Given the description of an element on the screen output the (x, y) to click on. 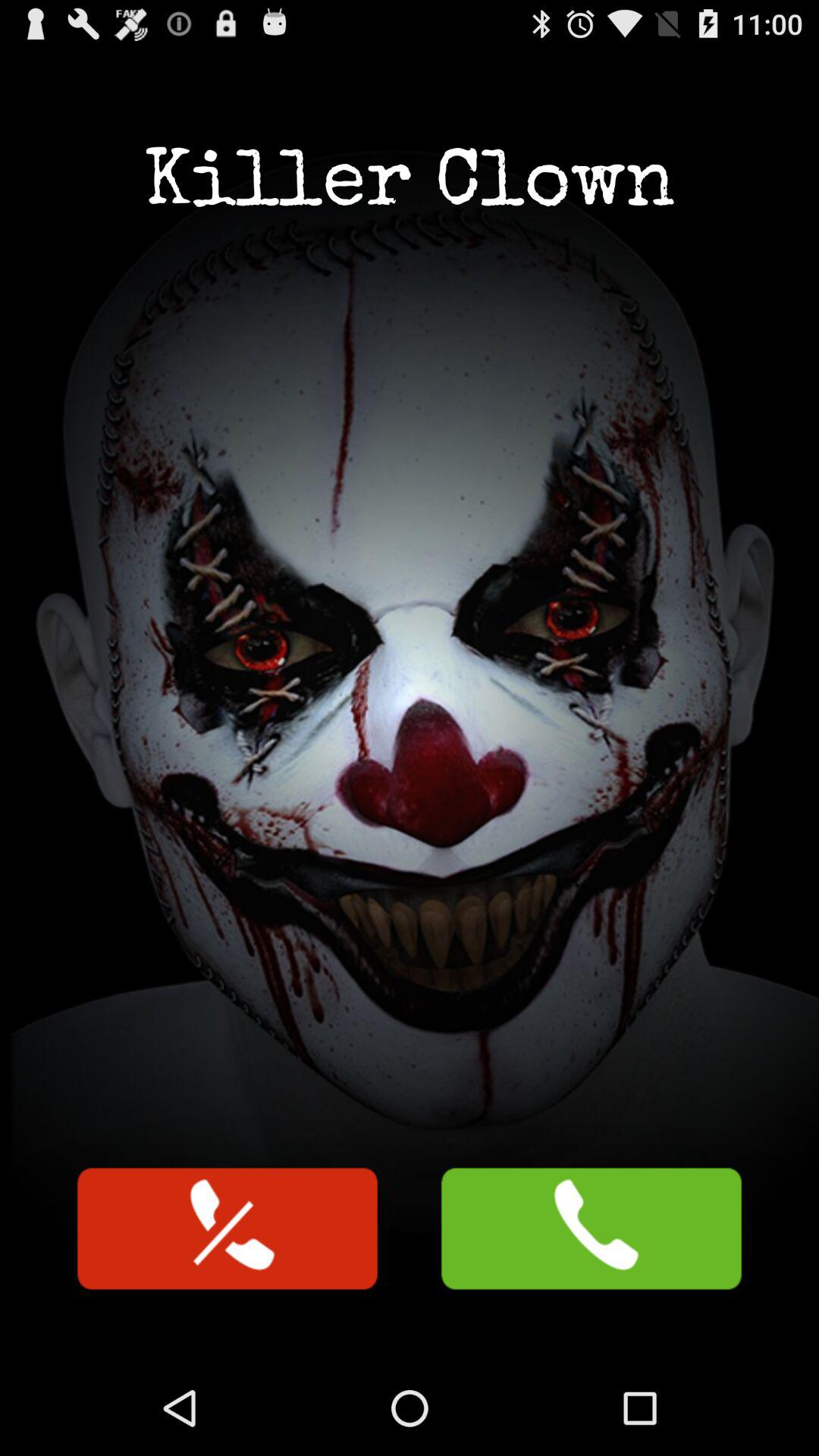
pickup call (591, 1228)
